Given the description of an element on the screen output the (x, y) to click on. 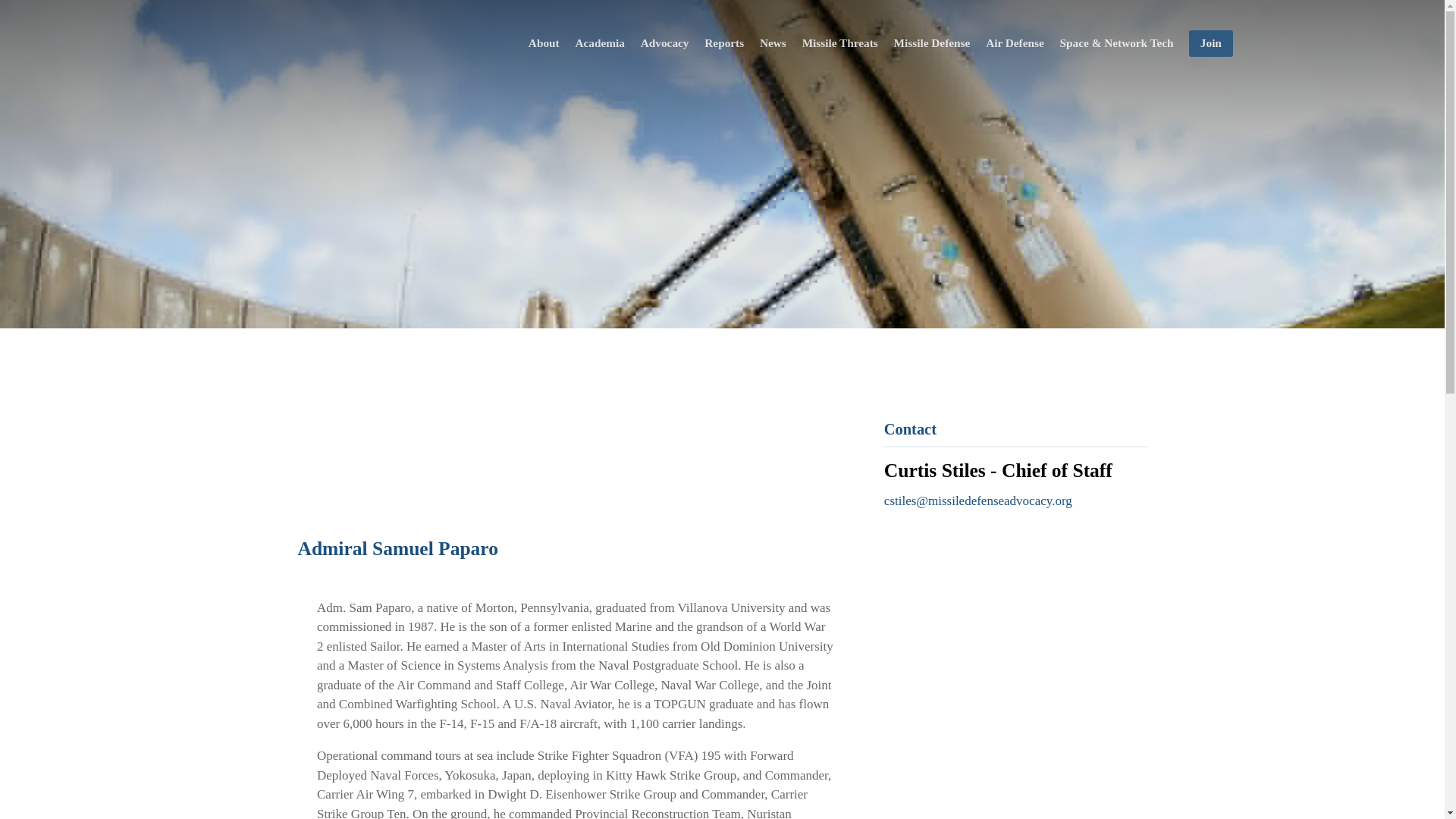
Academia (599, 43)
About (543, 43)
Advocacy (664, 43)
Reports (724, 43)
